Given the description of an element on the screen output the (x, y) to click on. 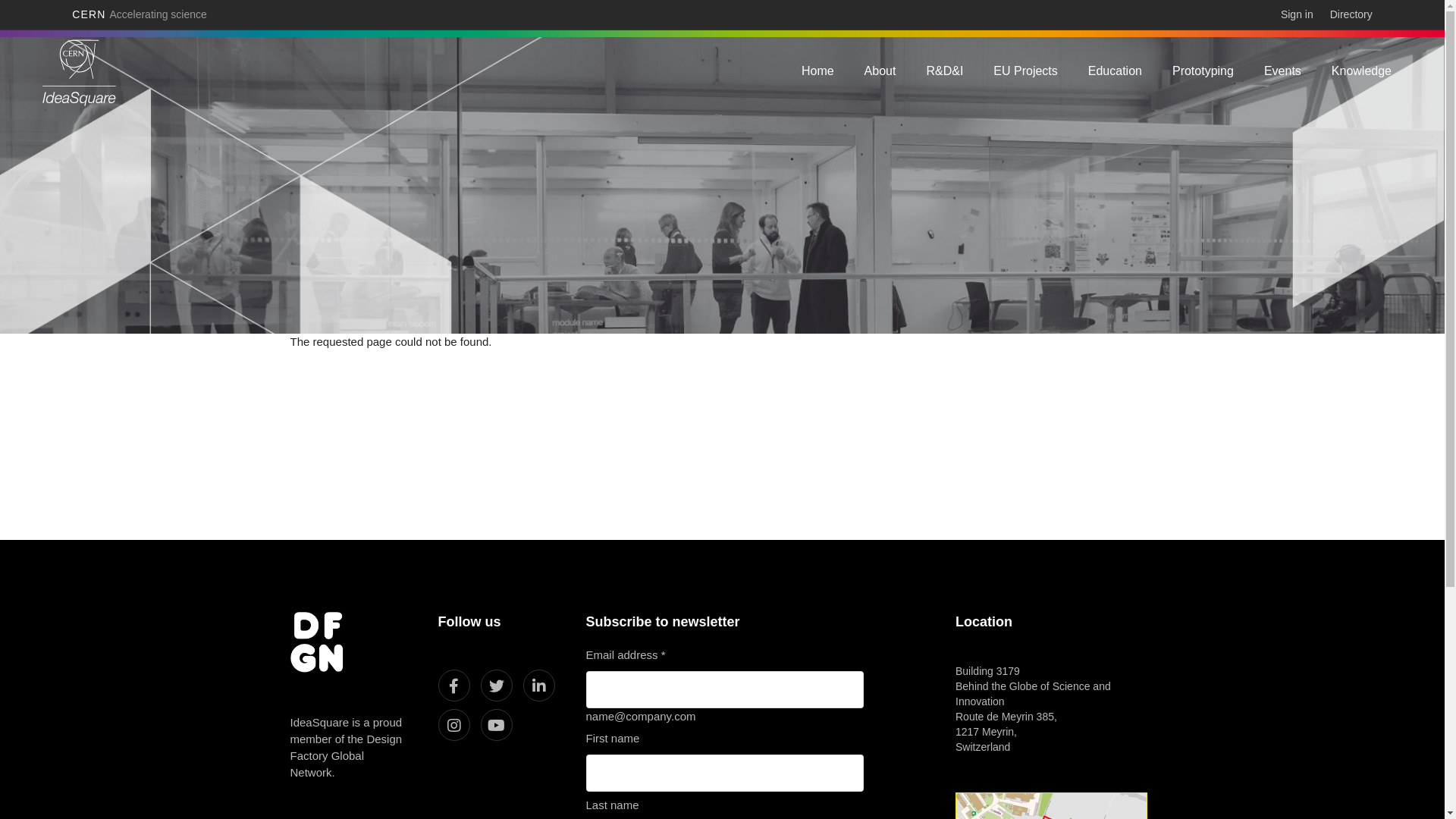
CERN Accelerating science Element type: text (139, 14)
EU Projects Element type: text (1025, 70)
Events Element type: text (1282, 70)
R&D&I Element type: text (944, 70)
Education Element type: text (1115, 70)
Sign in Element type: text (1296, 14)
About Element type: text (880, 70)
Knowledge Element type: text (1361, 70)
Directory Element type: text (1351, 14)
Home Element type: text (817, 70)
Prototyping Element type: text (1202, 70)
